Given the description of an element on the screen output the (x, y) to click on. 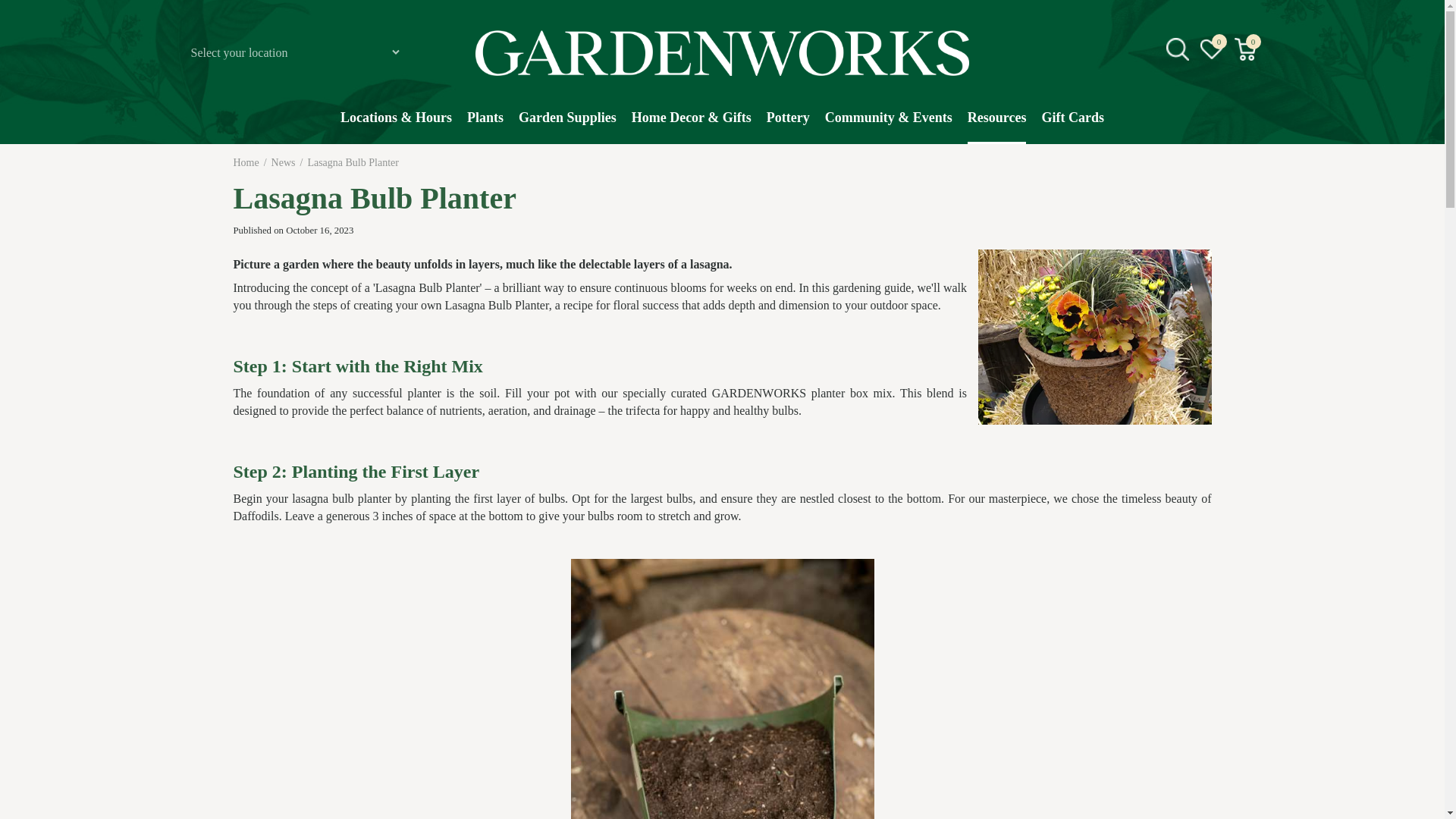
Go to the wishlist (1211, 48)
src (1177, 48)
GARDENWORKS garden centres (722, 53)
Home (245, 162)
News (282, 162)
Plants (485, 125)
Garden Supplies (566, 125)
Home (245, 162)
Search (1241, 168)
Lasagna Bulb Planter (352, 162)
